Given the description of an element on the screen output the (x, y) to click on. 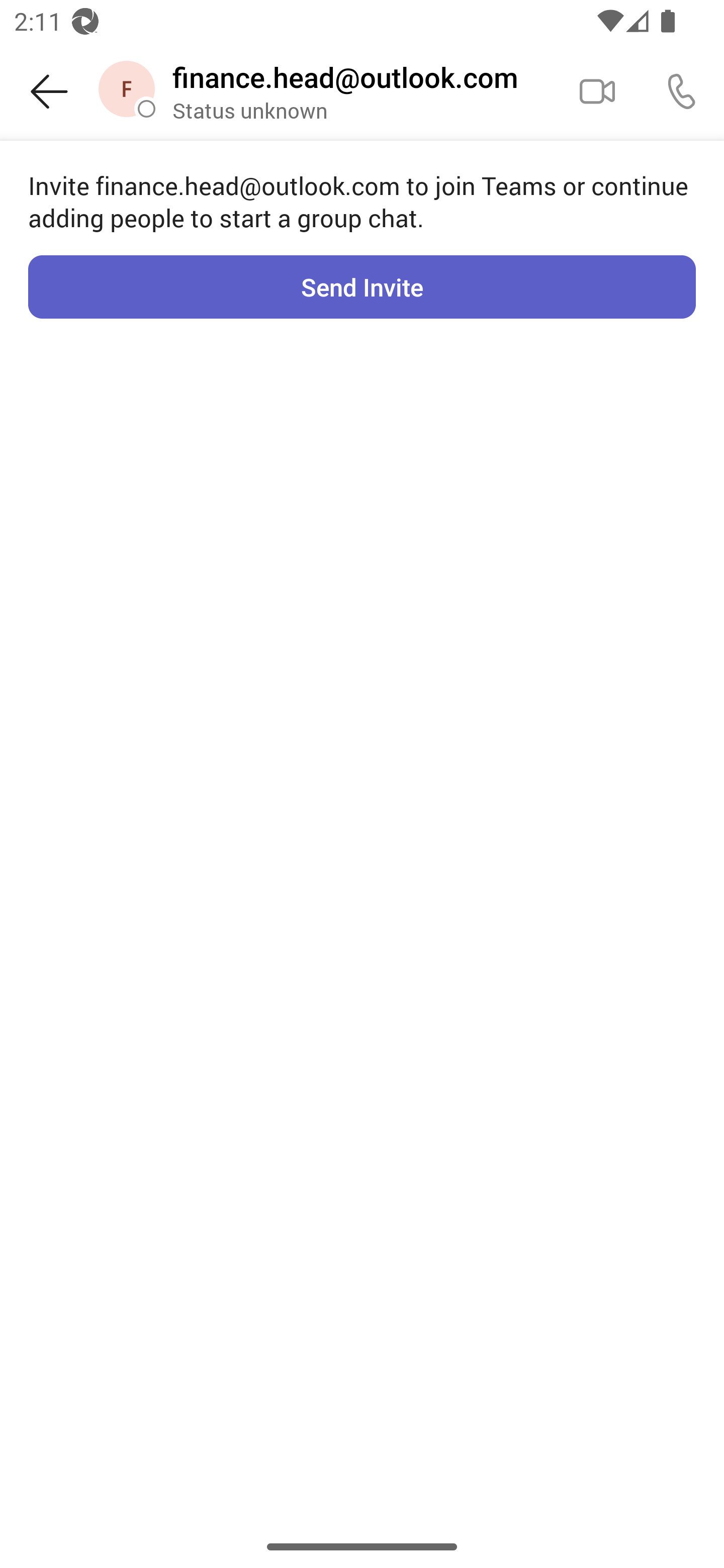
Back (49, 91)
Video Call (597, 90)
Audio Call (681, 90)
Send Invite (361, 286)
